Given the description of an element on the screen output the (x, y) to click on. 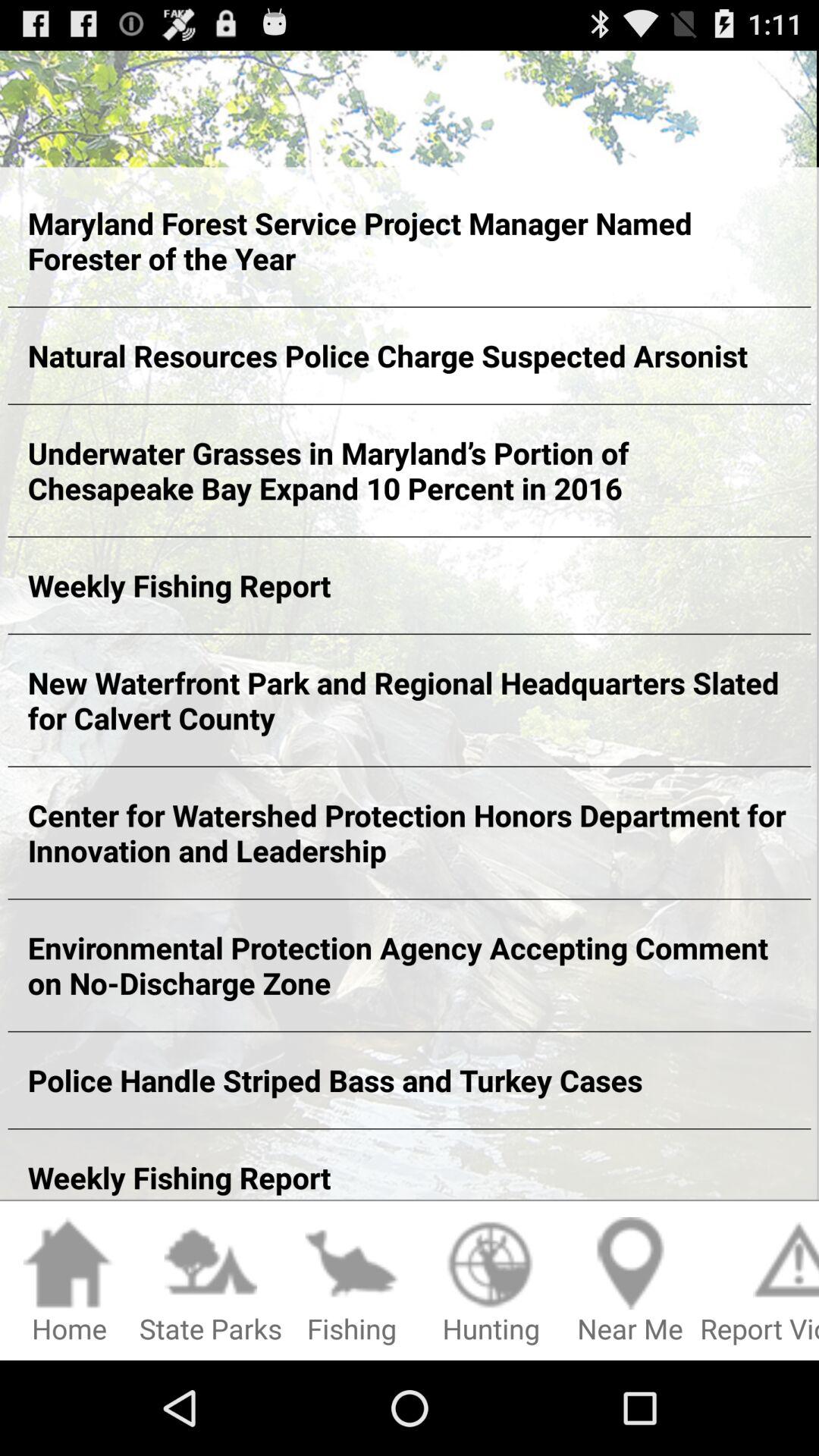
select item to the left of near me item (490, 1282)
